Given the description of an element on the screen output the (x, y) to click on. 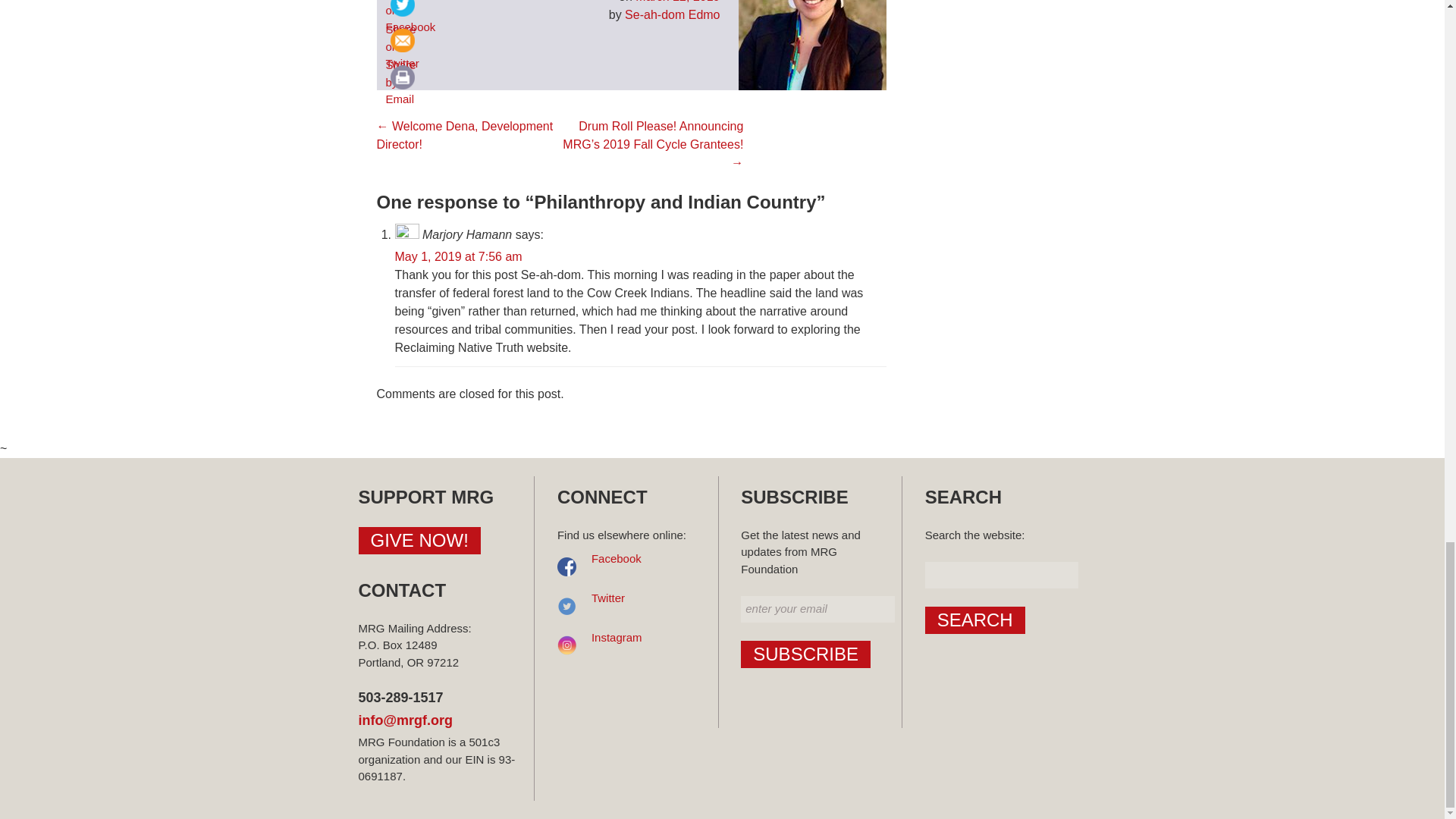
Search (974, 619)
March 22, 2019 (676, 1)
email (402, 40)
View all posts by Se-ah-dom Edmo (671, 14)
print (402, 77)
Search (974, 619)
enter your email (818, 609)
twitter (402, 10)
Subscribe (805, 654)
Se-ah-dom Edmo (671, 14)
